Given the description of an element on the screen output the (x, y) to click on. 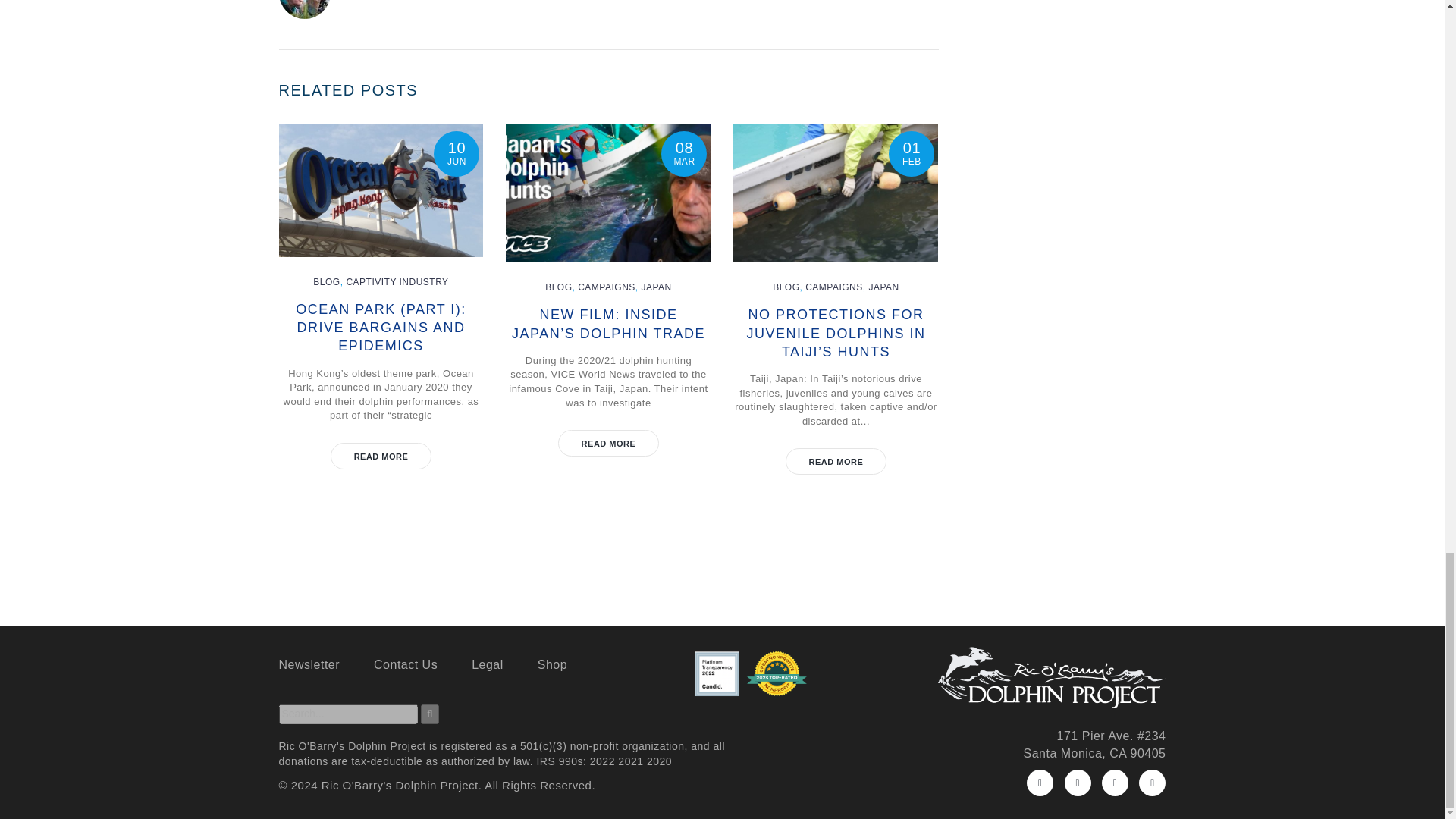
Vimeo (1152, 782)
Search... (348, 713)
Instagram (1115, 782)
Twitter (1077, 782)
Facebook (1039, 782)
